Given the description of an element on the screen output the (x, y) to click on. 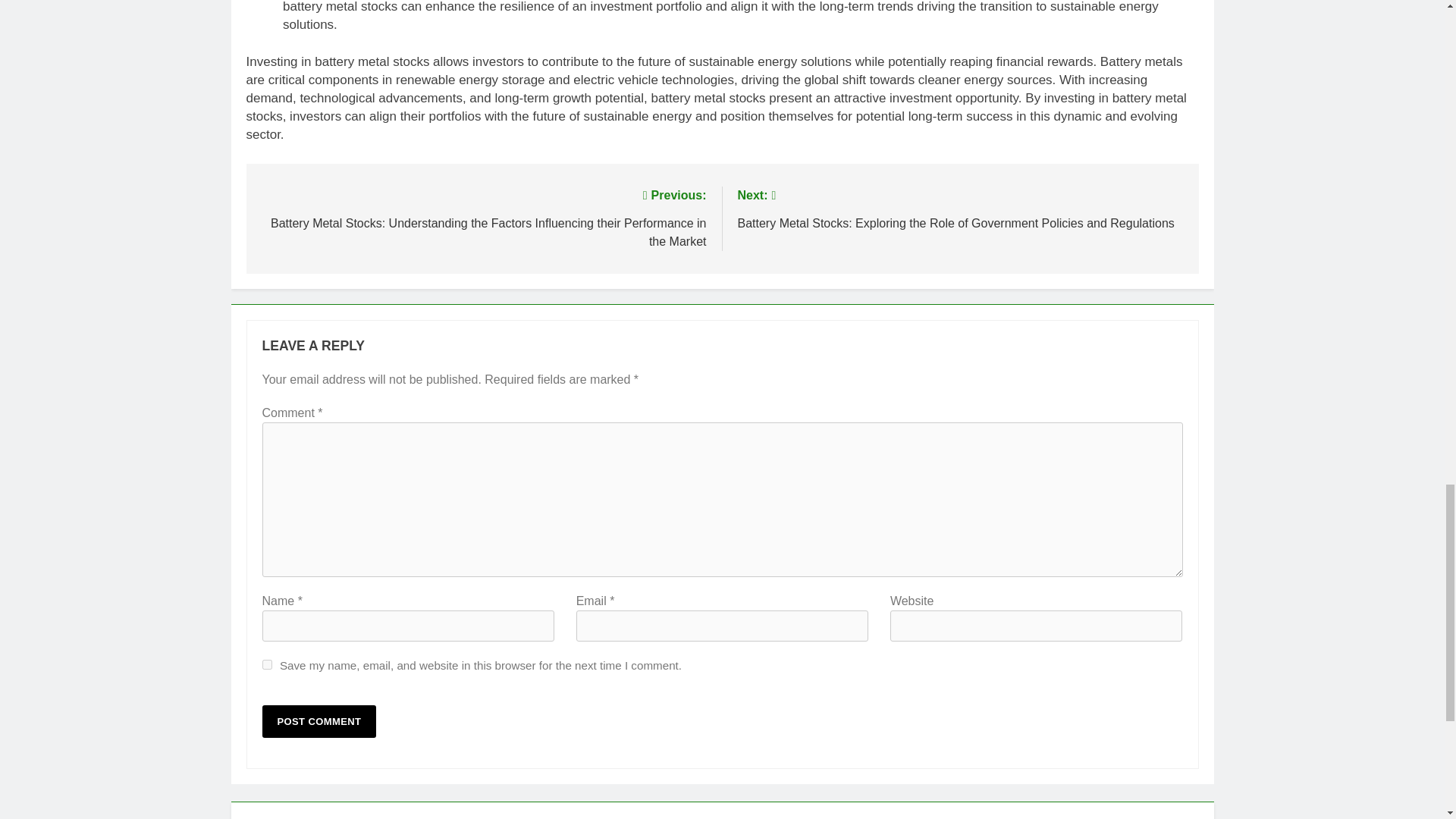
yes (267, 664)
Post Comment (319, 721)
